Given the description of an element on the screen output the (x, y) to click on. 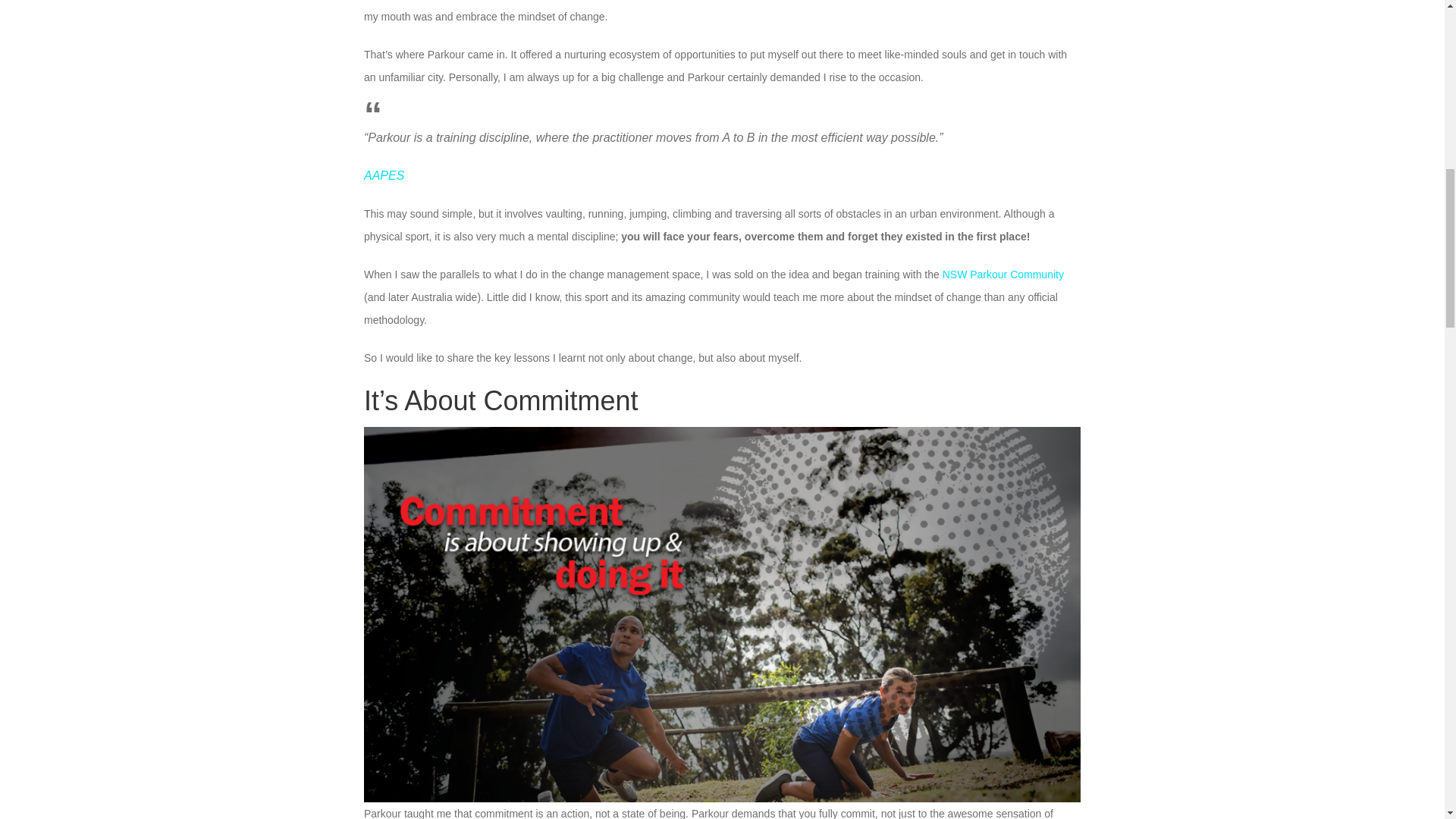
NSW Parkour Community (1003, 274)
AAPES (384, 174)
